Given the description of an element on the screen output the (x, y) to click on. 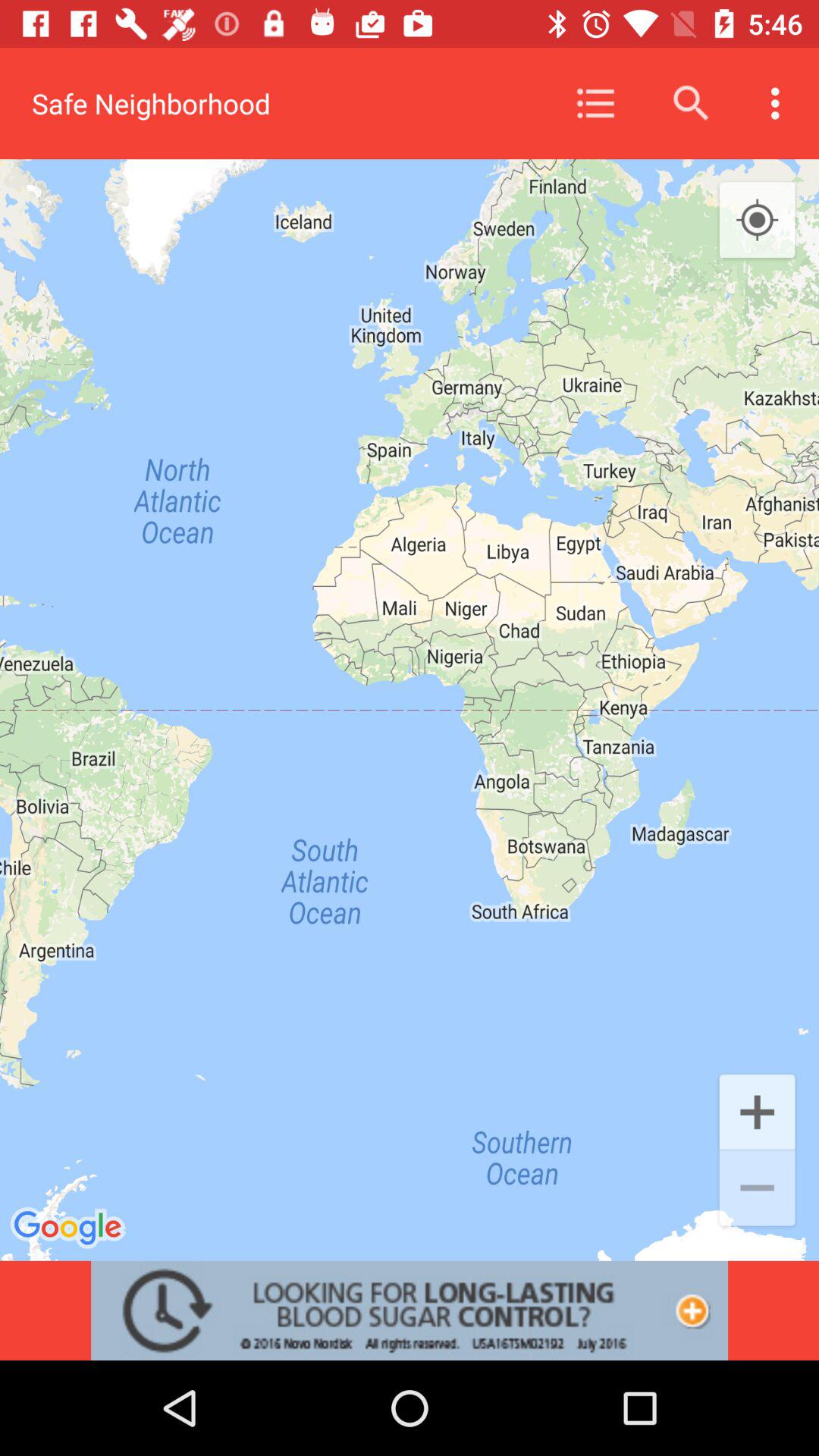
view advertisement (409, 1310)
